Given the description of an element on the screen output the (x, y) to click on. 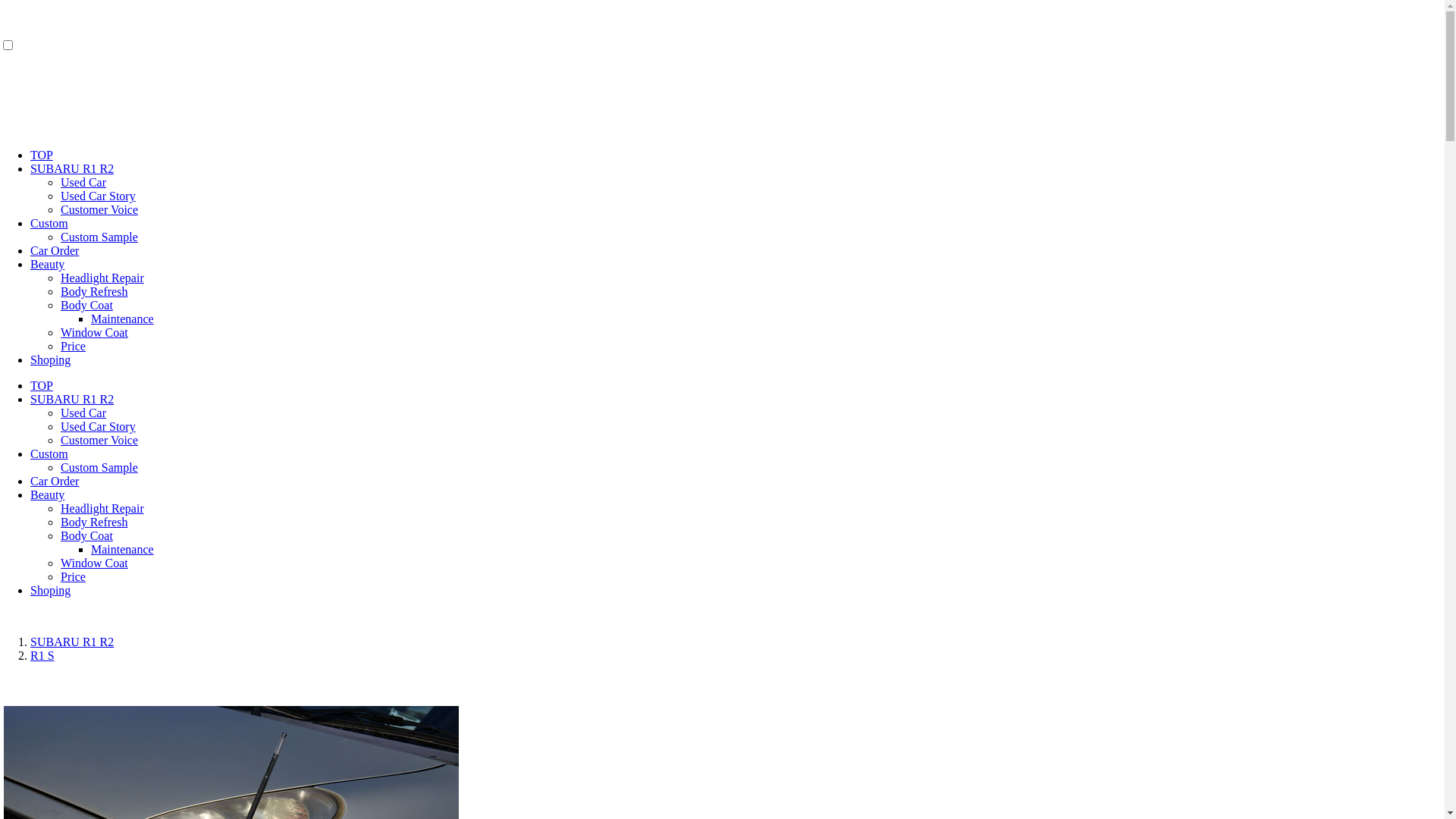
Used Car Element type: text (83, 412)
Window Coat Element type: text (94, 562)
Custom Sample Element type: text (99, 236)
Headlight Repair Element type: text (102, 277)
Beauty Element type: text (47, 494)
Body Refresh Element type: text (93, 291)
Car Order Element type: text (54, 480)
Car Order Element type: text (54, 250)
Used Car Story Element type: text (97, 426)
Headlight Repair Element type: text (102, 508)
Price Element type: text (72, 345)
Window Coat Element type: text (94, 332)
Price Element type: text (72, 576)
Beauty Element type: text (47, 263)
Body Coat Element type: text (86, 304)
Customer Voice Element type: text (99, 209)
Body Refresh Element type: text (93, 521)
Maintenance Element type: text (122, 318)
R1 S Element type: text (42, 655)
Shoping Element type: text (50, 359)
Shoping Element type: text (50, 589)
Body Coat Element type: text (86, 535)
Custom Element type: text (49, 222)
Customer Voice Element type: text (99, 439)
Custom Element type: text (49, 453)
SUBARU R1 R2 Element type: text (71, 641)
Custom Sample Element type: text (99, 467)
Maintenance Element type: text (122, 548)
SUBARU R1 R2 Element type: text (71, 168)
Used Car Story Element type: text (97, 195)
SUBARU R1 R2 Element type: text (71, 398)
Used Car Element type: text (83, 181)
TOP Element type: text (41, 154)
TOP Element type: text (41, 385)
